Given the description of an element on the screen output the (x, y) to click on. 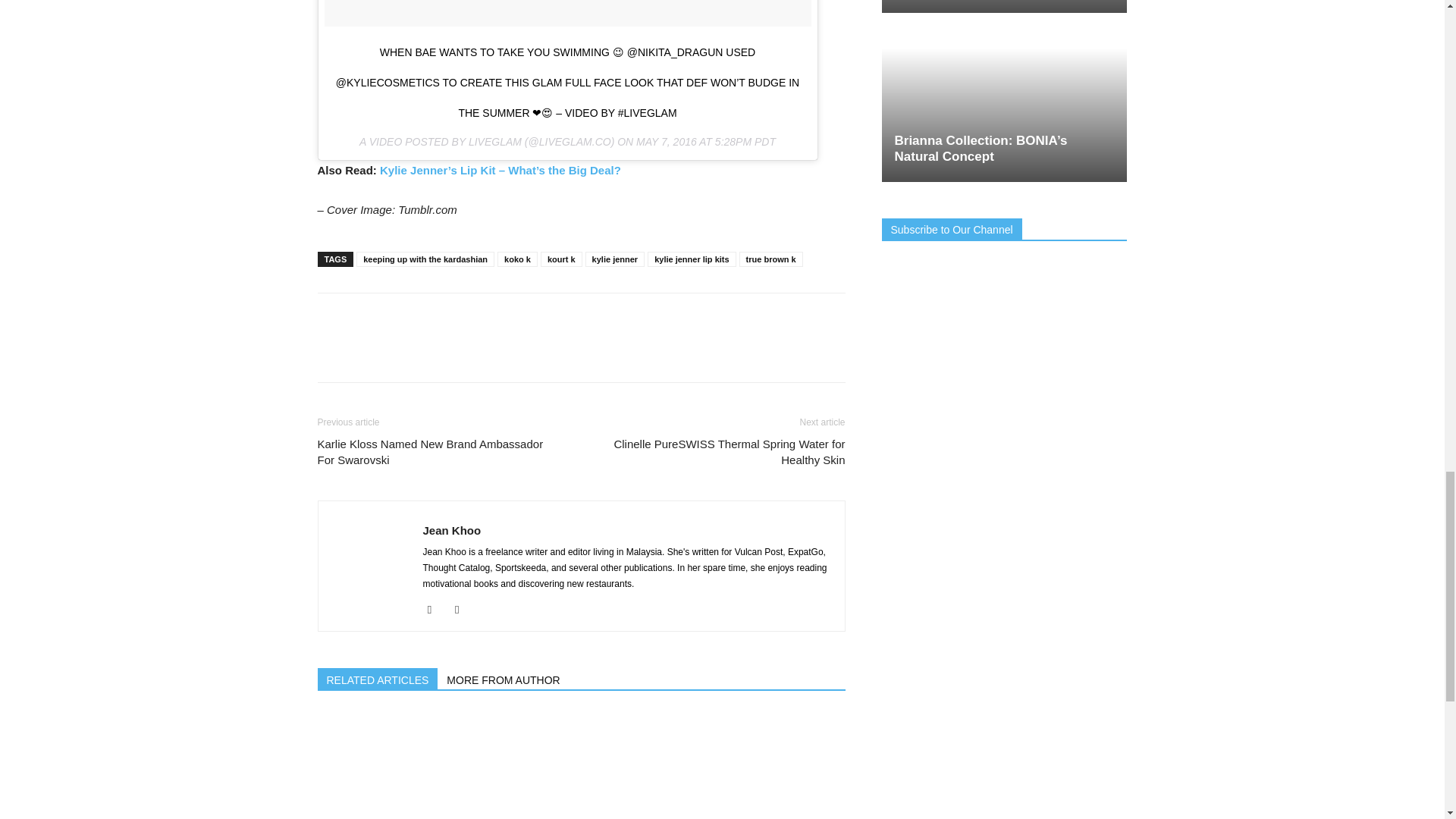
Twitter (462, 609)
Facebook (435, 609)
